Given the description of an element on the screen output the (x, y) to click on. 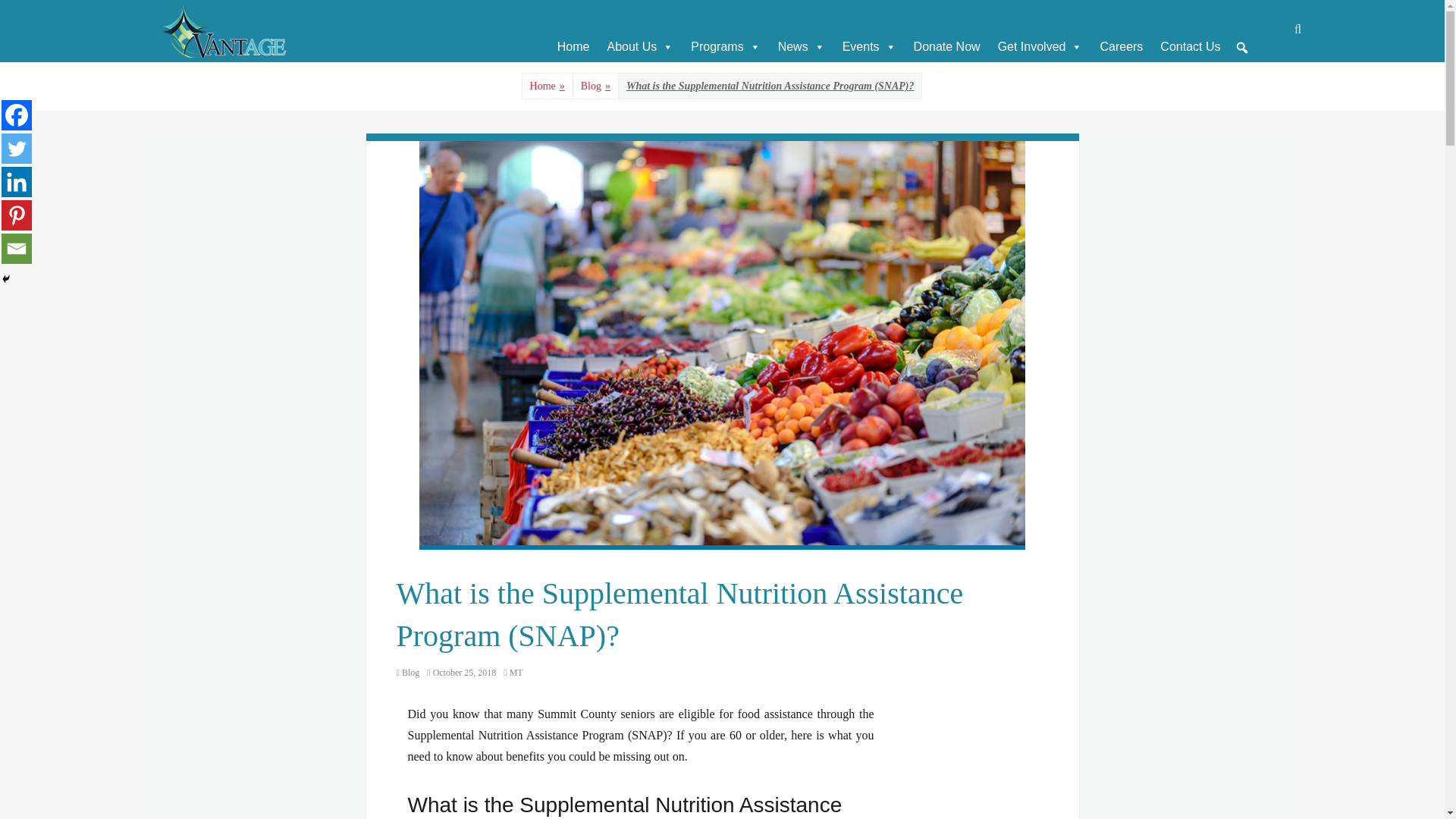
Email (16, 248)
Hide (5, 278)
Pinterest (16, 214)
Linkedin (16, 182)
Twitter (16, 148)
Facebook (16, 114)
